Given the description of an element on the screen output the (x, y) to click on. 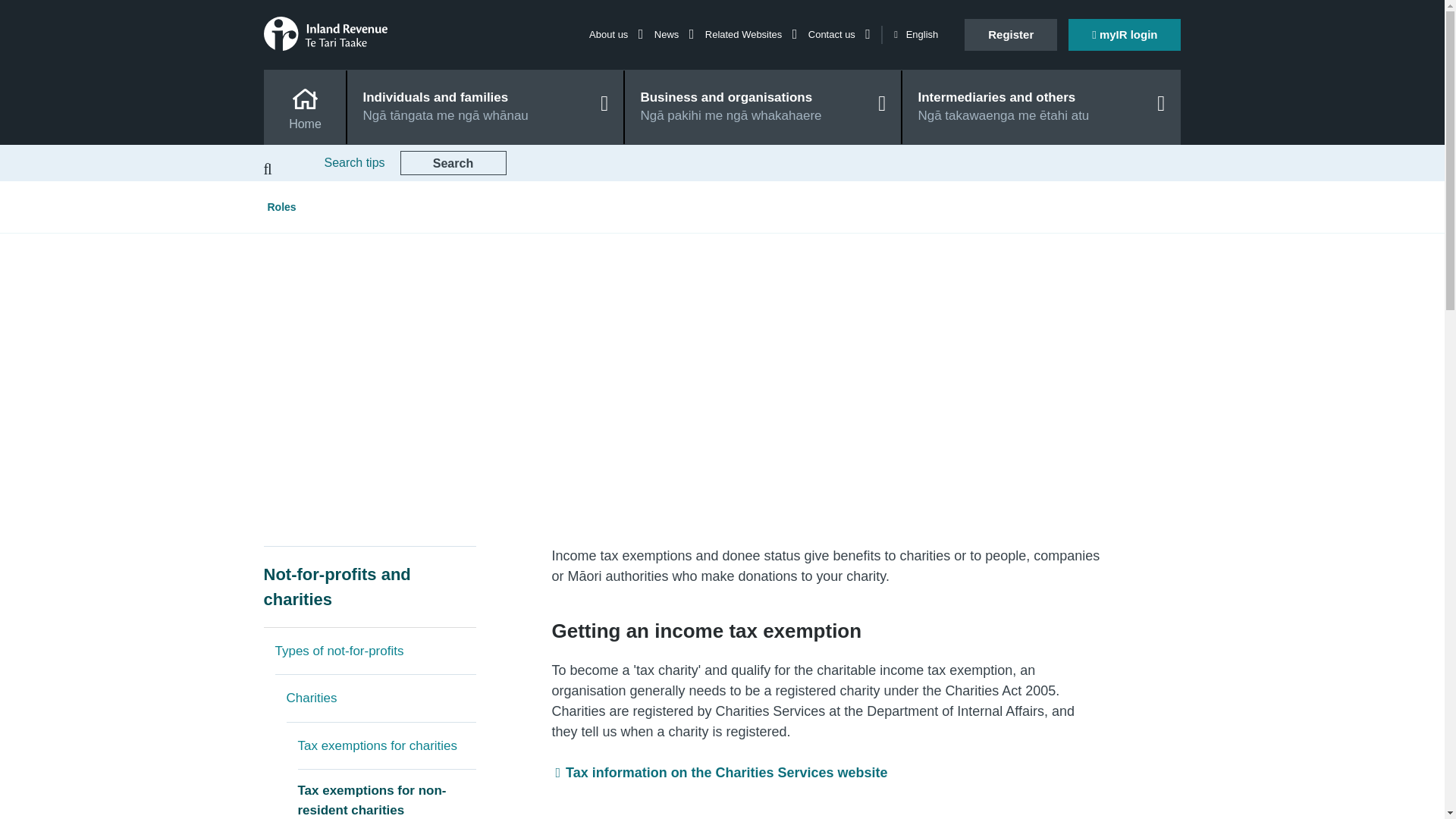
English (914, 34)
About us (616, 34)
Not-for-profits and charities (369, 587)
News (673, 34)
Contact us (839, 34)
Charities (381, 697)
Tax exemptions for non-resident charities (386, 794)
Related Websites (750, 34)
myIR login (1124, 34)
Register (1010, 34)
